Given the description of an element on the screen output the (x, y) to click on. 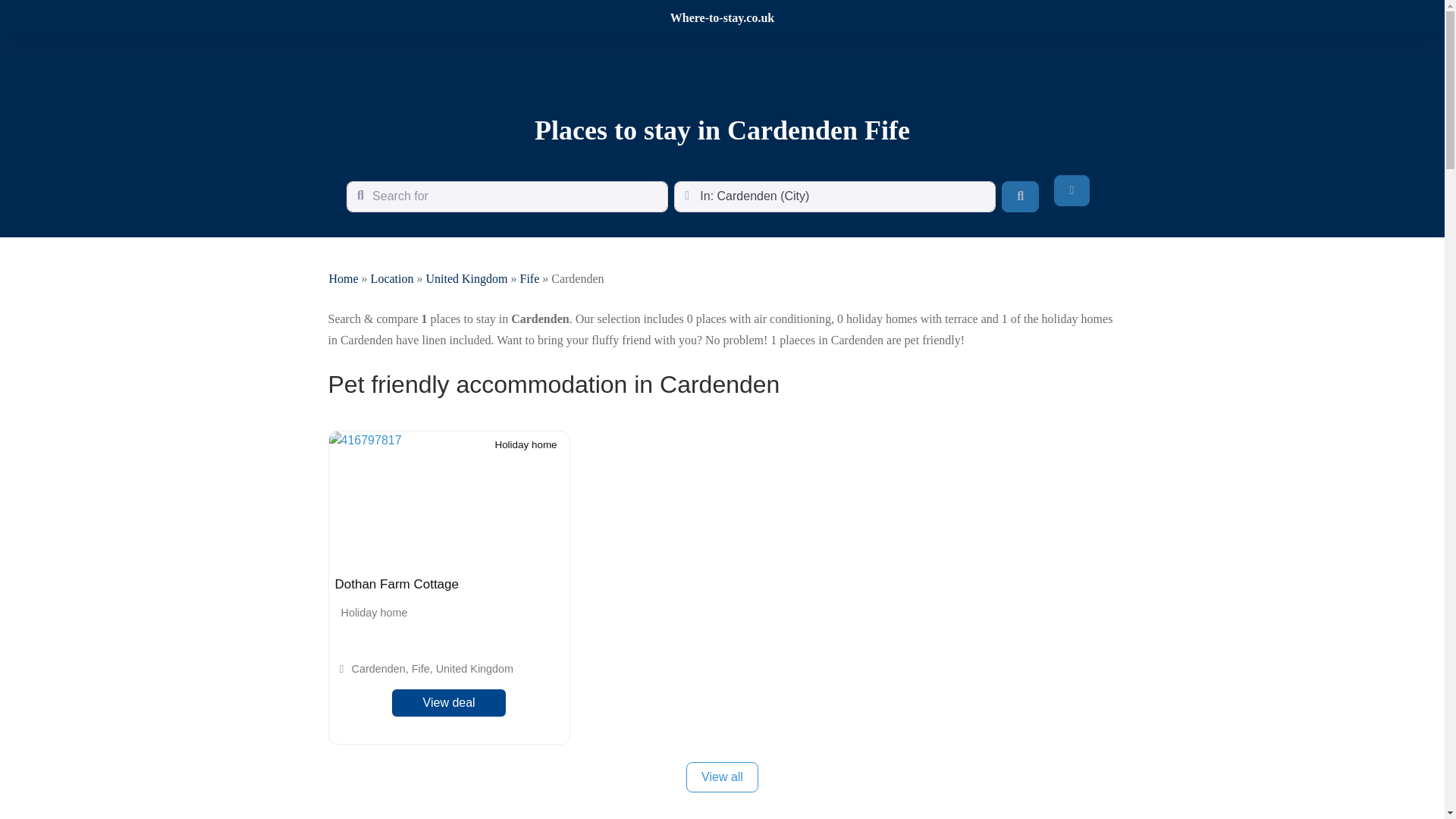
Fife (528, 278)
Advanced Filters (1071, 190)
Location (392, 278)
View all (721, 777)
View deal (448, 702)
Where-to-stay.co.uk (721, 17)
United Kingdom (465, 278)
Dothan Farm Cottage (396, 584)
Home (343, 278)
View: Dothan Farm Cottage (396, 584)
